Given the description of an element on the screen output the (x, y) to click on. 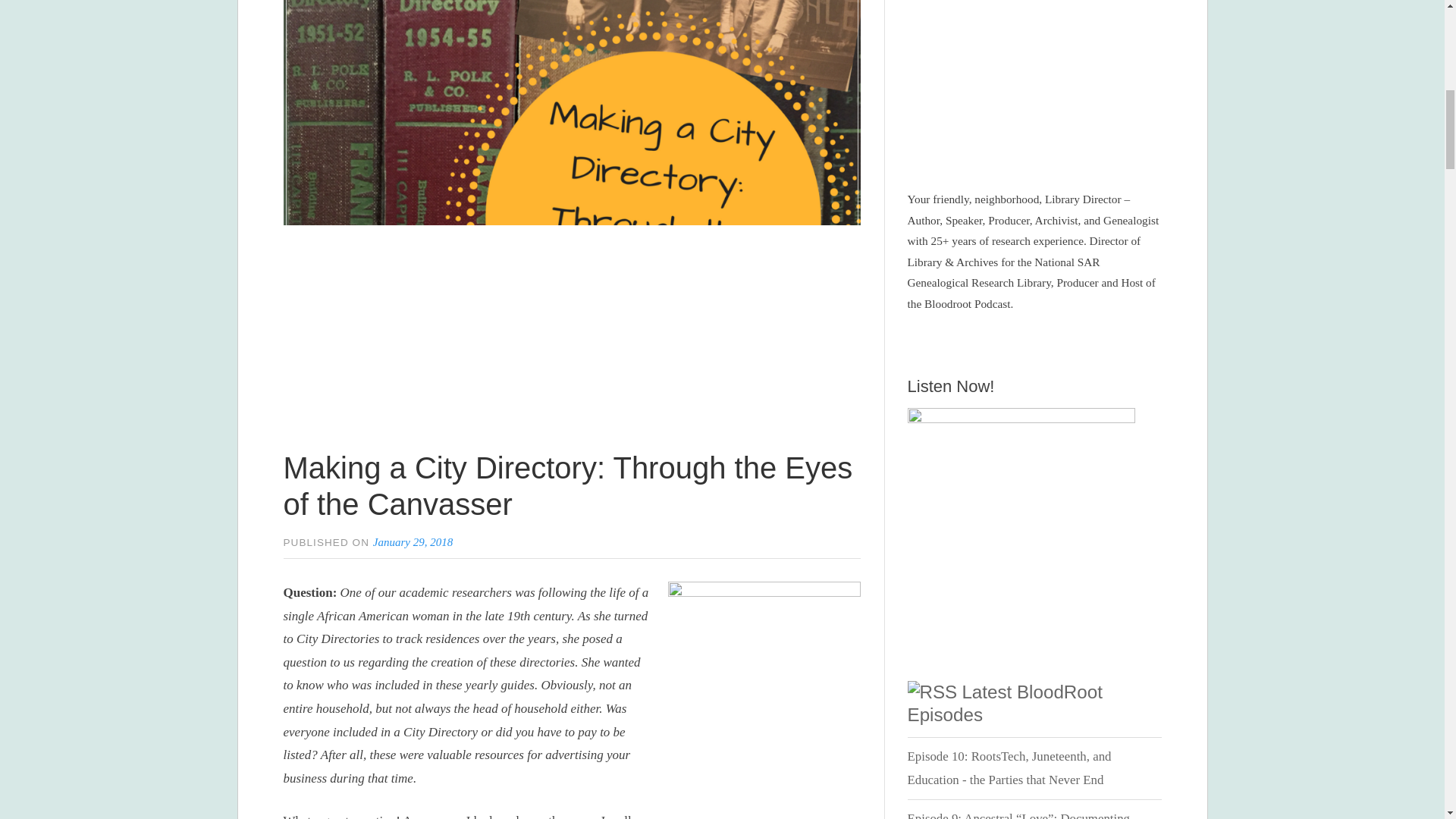
Latest BloodRoot Episodes (1004, 702)
January 29, 2018 (412, 541)
Making a City Directory: Through the Eyes of the Canvasser (568, 485)
